Given the description of an element on the screen output the (x, y) to click on. 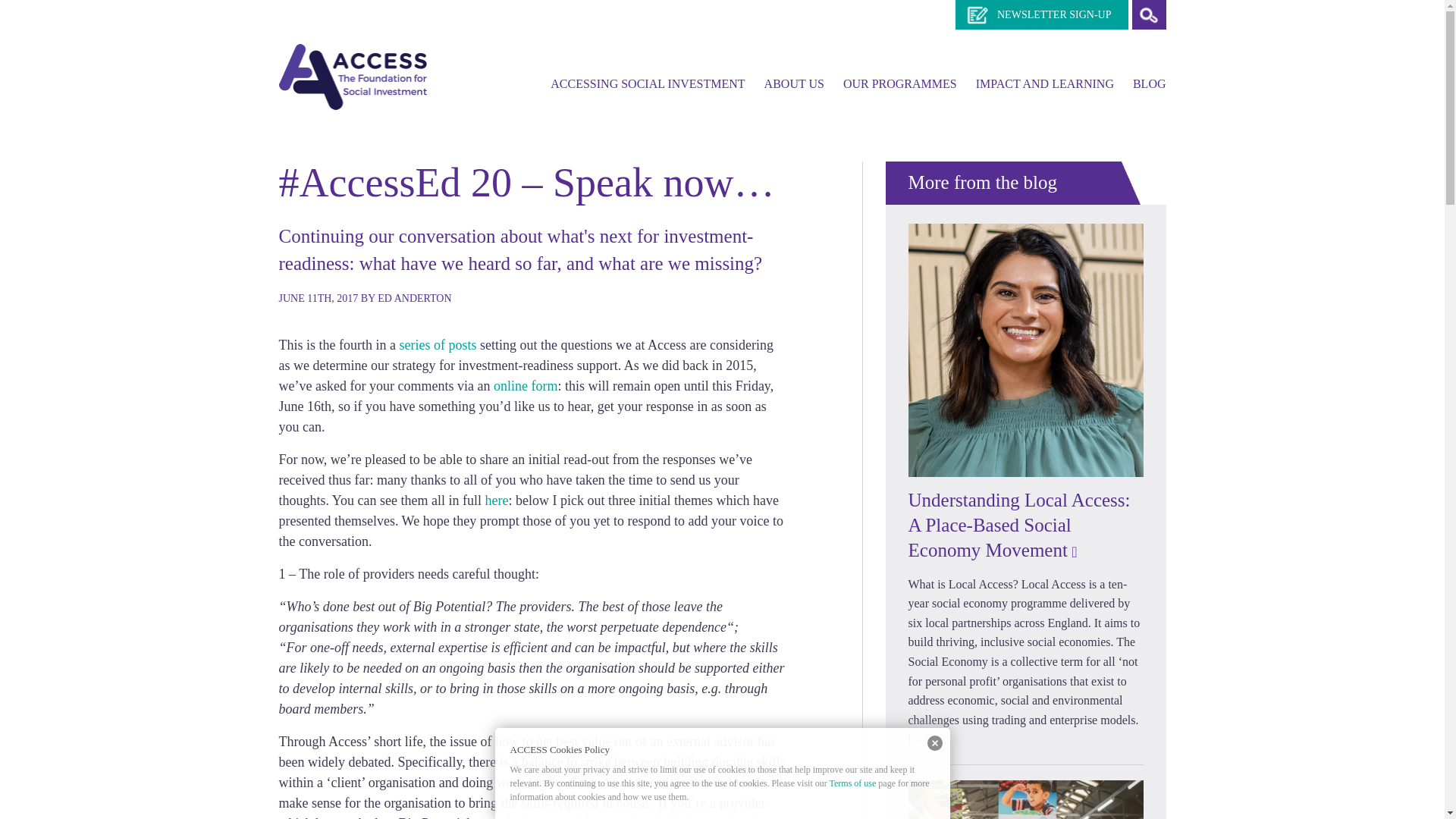
ABOUT US (794, 83)
OUR PROGRAMMES (899, 83)
NEWSLETTER SIGN-UP (1041, 14)
go to homepage (352, 75)
ACCESSING SOCIAL INVESTMENT (647, 83)
Search (1148, 14)
